Given the description of an element on the screen output the (x, y) to click on. 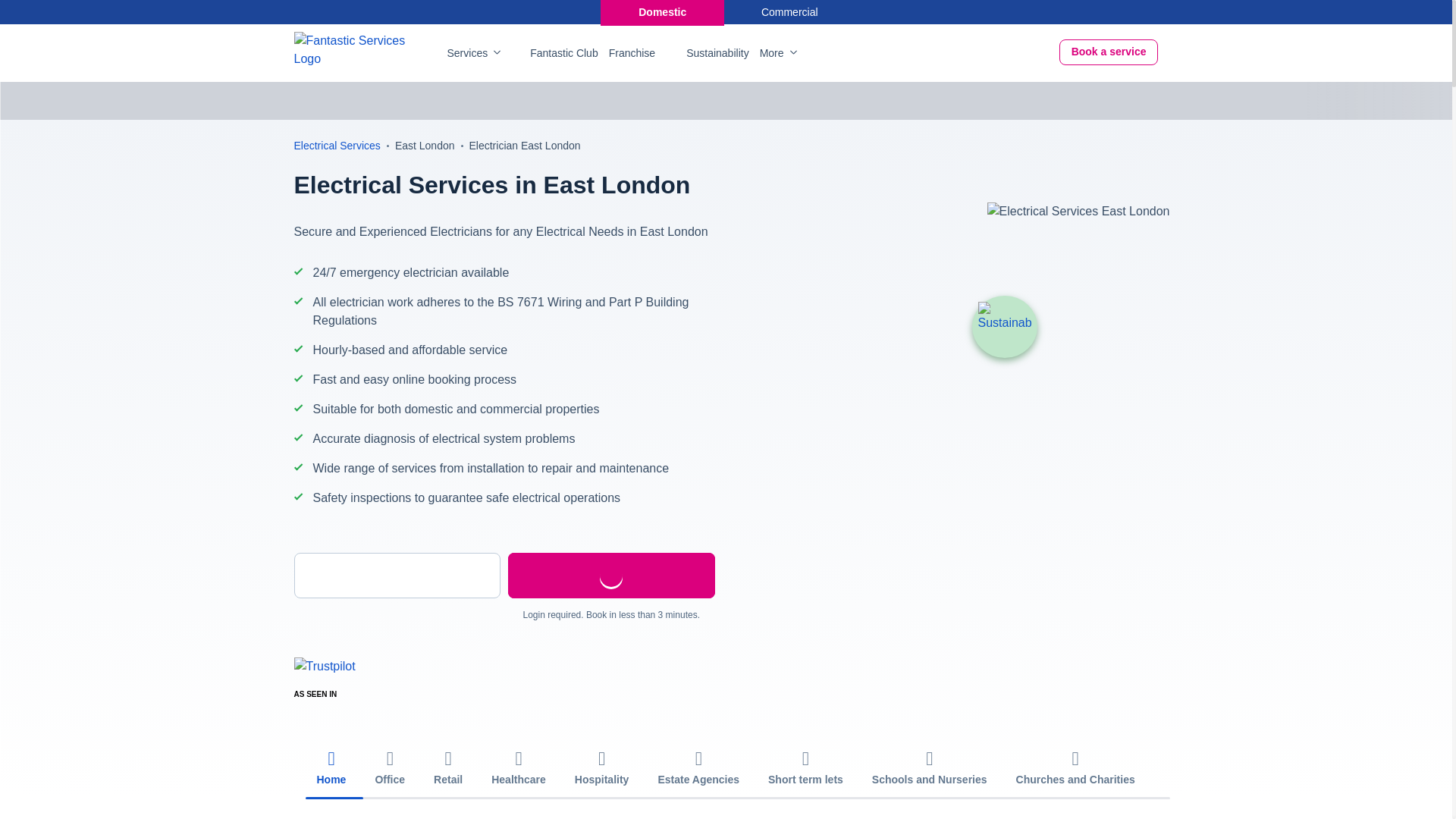
Commercial (789, 12)
For business clients (789, 12)
Domestic (661, 12)
Short term lets (805, 768)
Book a service (1108, 52)
Fantastic Club (563, 52)
Sustainability (1004, 327)
Fantastic Services (350, 47)
Franchise (632, 52)
Book online (1108, 52)
